Given the description of an element on the screen output the (x, y) to click on. 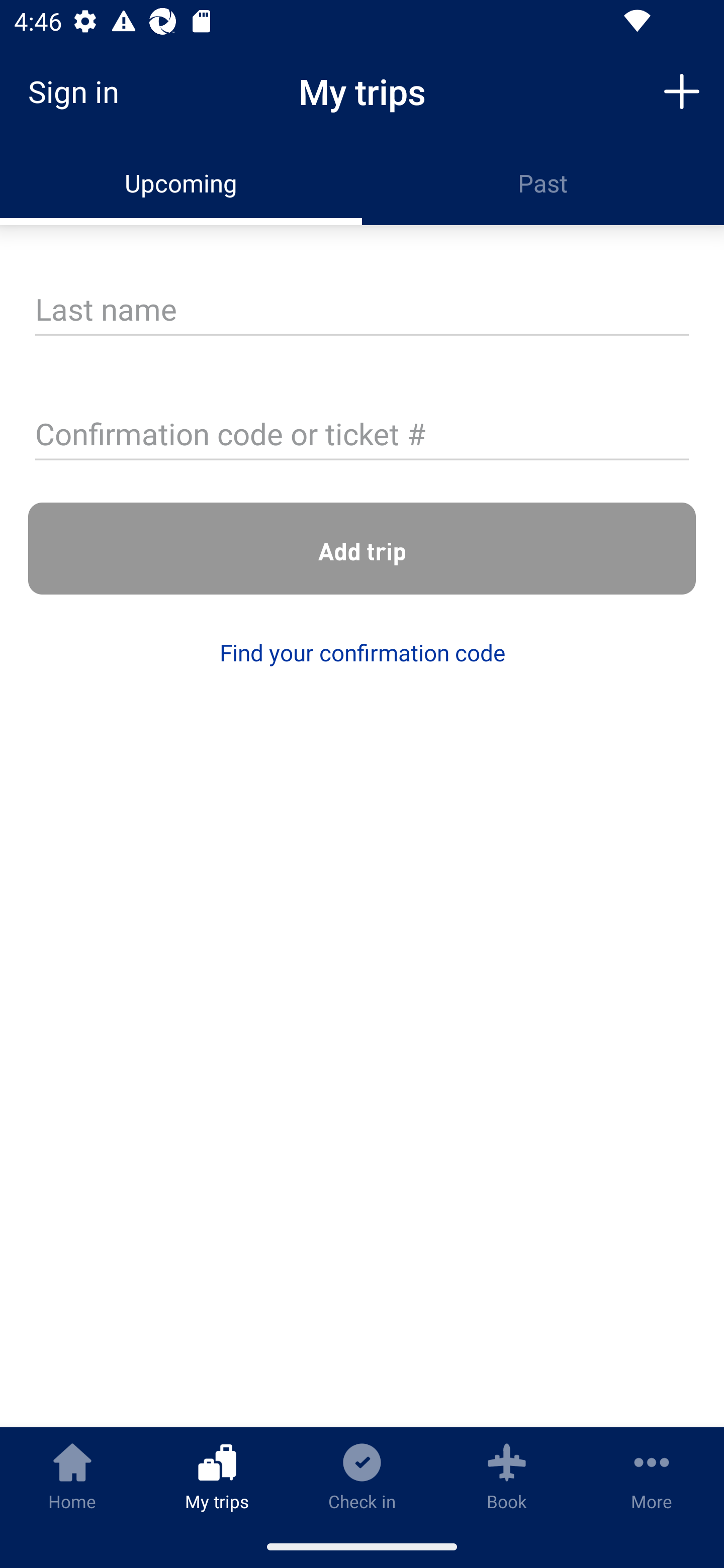
Sign in (80, 91)
Add trip (681, 90)
Past (543, 183)
Last name (361, 310)
Confirmation code or ticket # (361, 435)
Add trip (361, 548)
Home (72, 1475)
Check in (361, 1475)
Book (506, 1475)
More (651, 1475)
